Given the description of an element on the screen output the (x, y) to click on. 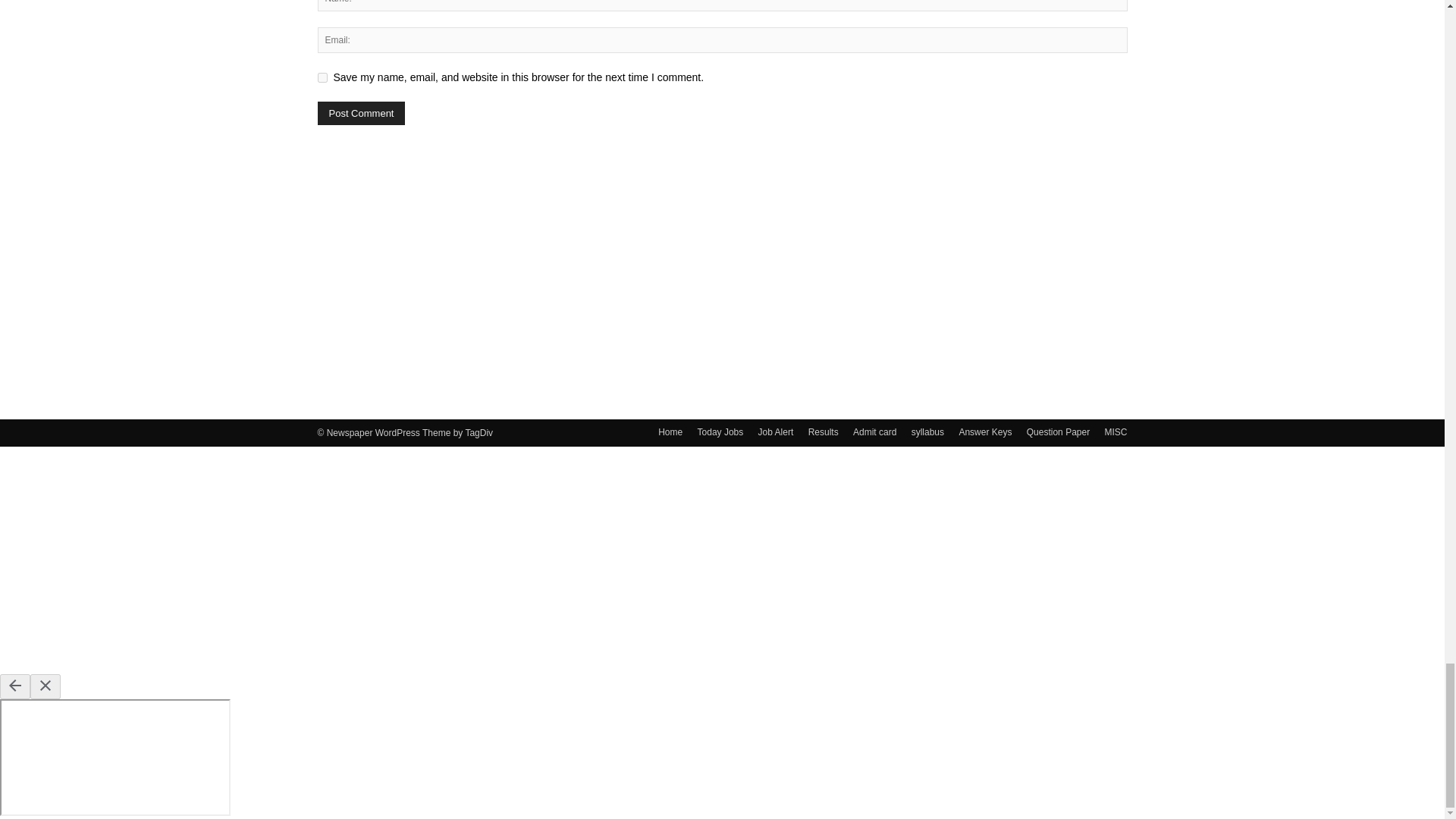
yes (321, 77)
Post Comment (360, 113)
